Given the description of an element on the screen output the (x, y) to click on. 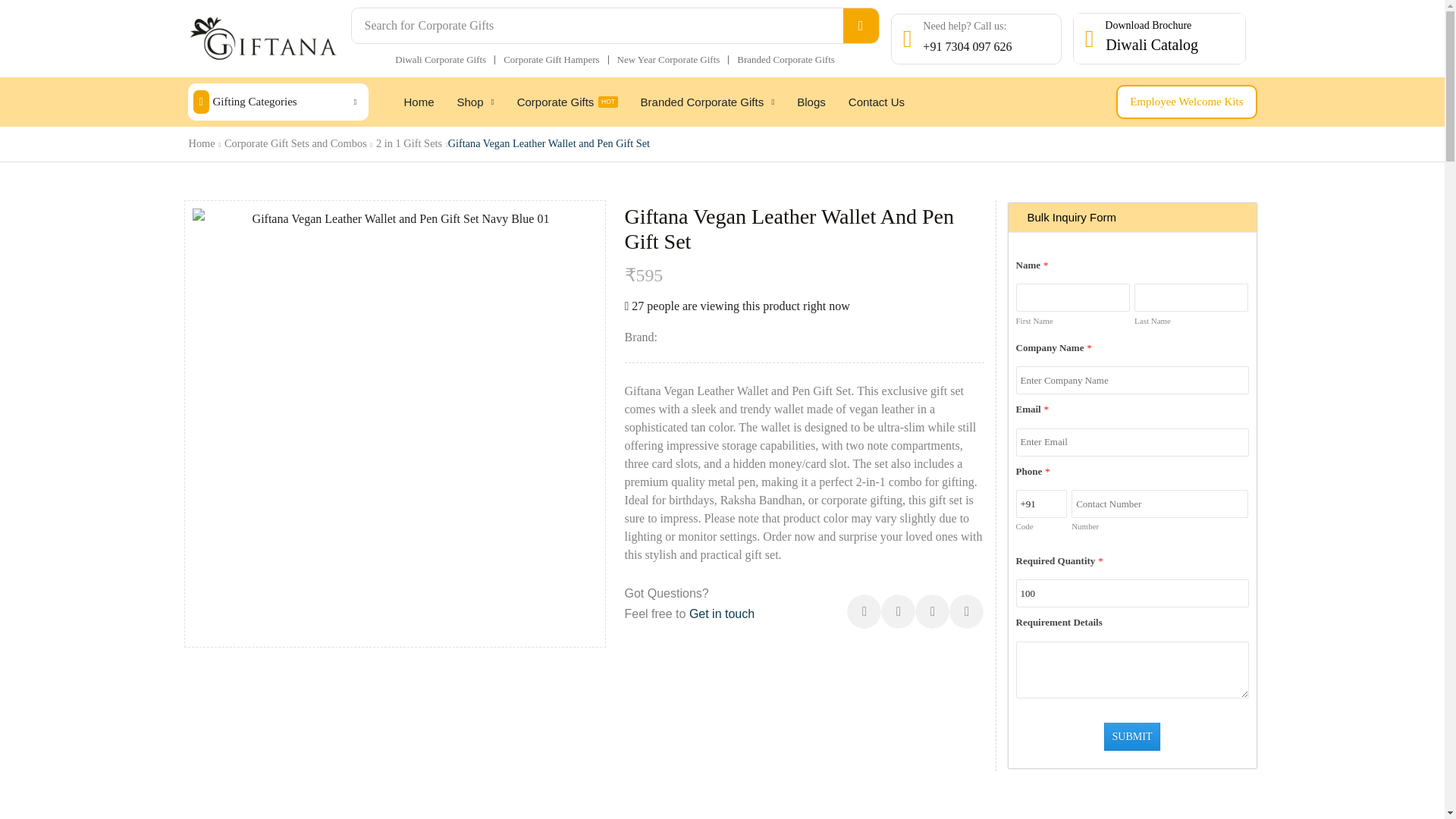
Search (861, 25)
100 (1132, 593)
Branded Corporate Gifts (785, 59)
Diwali Corporate Gifts (440, 59)
Diwali Catalog (1152, 46)
New Year Corporate Gifts (668, 59)
Corporate Gift Hampers (550, 59)
